Given the description of an element on the screen output the (x, y) to click on. 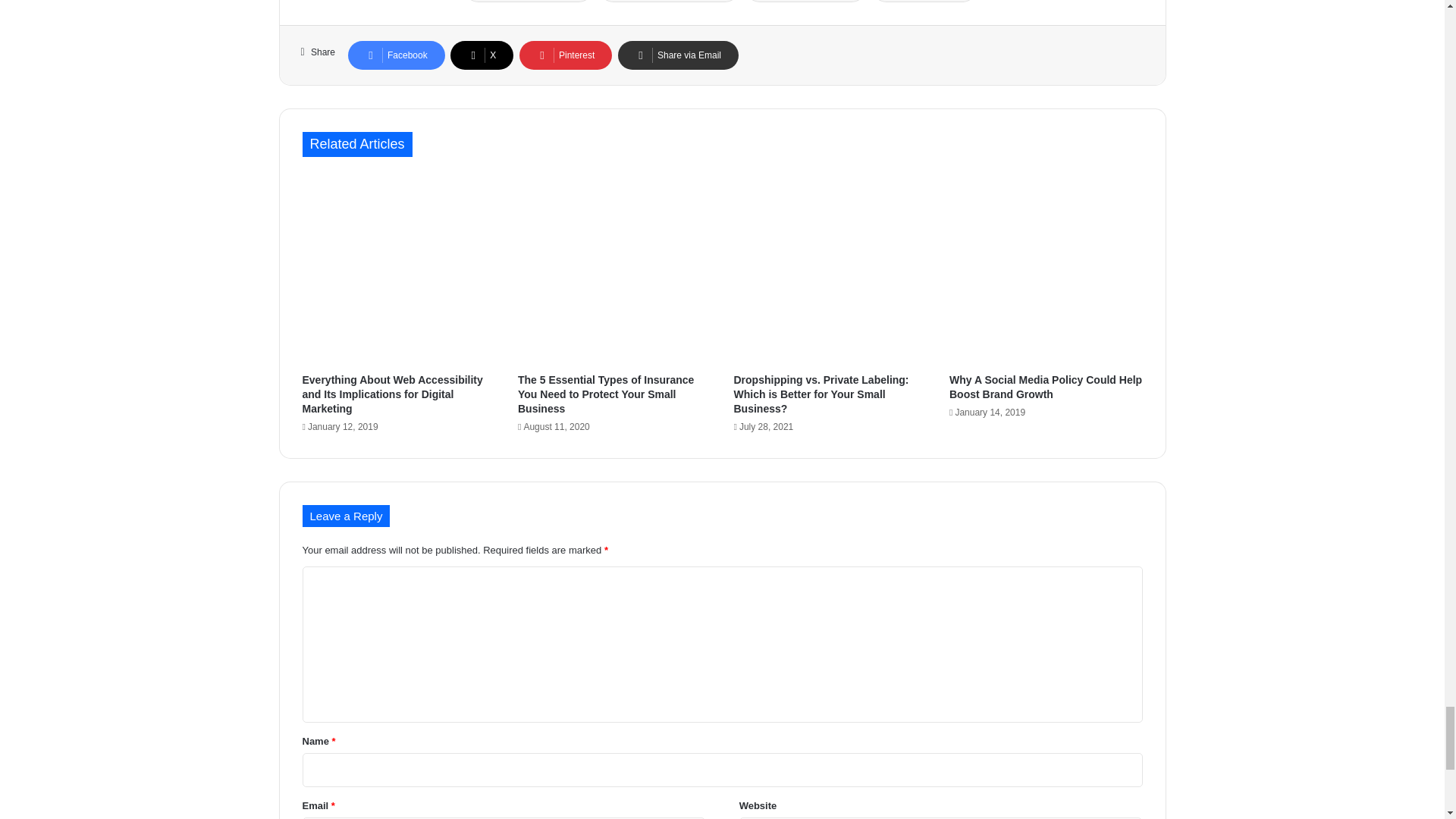
Pinterest (565, 54)
Facebook (396, 54)
X (481, 54)
